Given the description of an element on the screen output the (x, y) to click on. 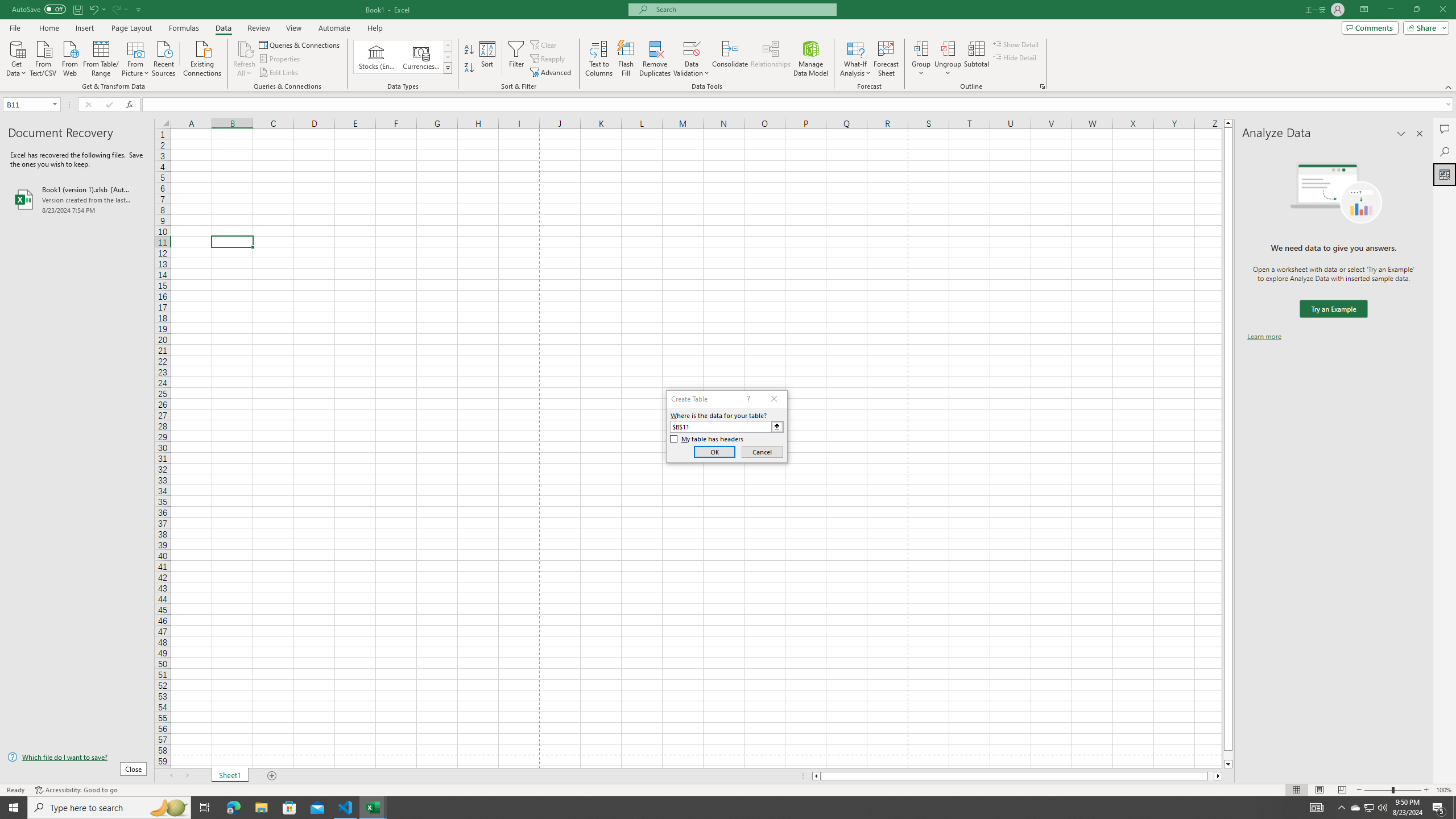
We need data to give you answers. Try an Example (1333, 308)
Formula Bar (799, 104)
Manage Data Model (810, 58)
Group and Outline Settings (1042, 85)
Hide Detail (1014, 56)
AutomationID: ConvertToLinkedEntity (403, 56)
Stocks (English) (375, 56)
Sort... (487, 58)
